Given the description of an element on the screen output the (x, y) to click on. 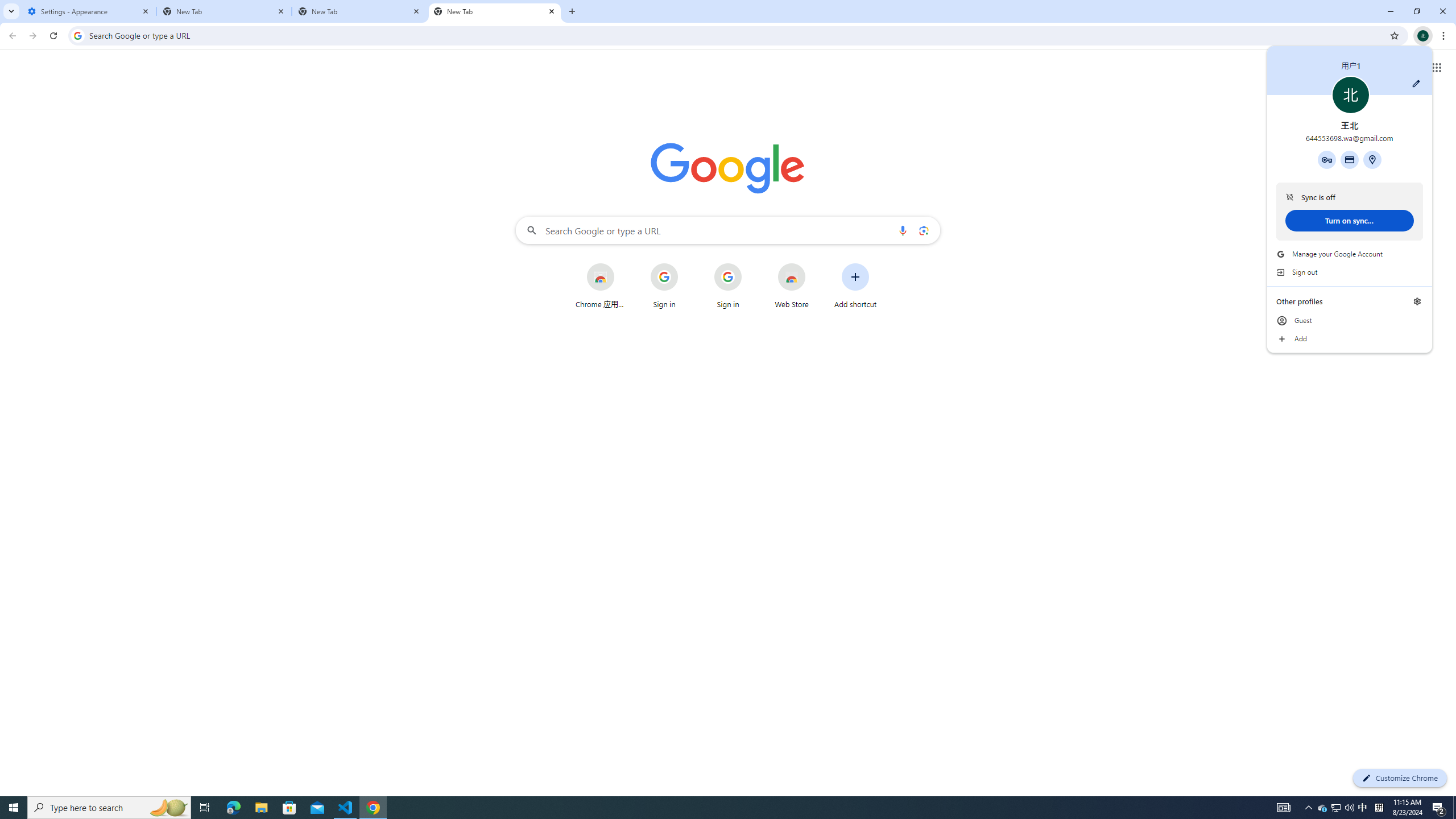
File Explorer (261, 807)
Type here to search (108, 807)
Action Center, 2 new notifications (1439, 807)
New Tab (359, 11)
Task View (204, 807)
Manage your Google Account (1349, 253)
Start (13, 807)
Google Password Manager (1326, 159)
Add (1349, 339)
